Given the description of an element on the screen output the (x, y) to click on. 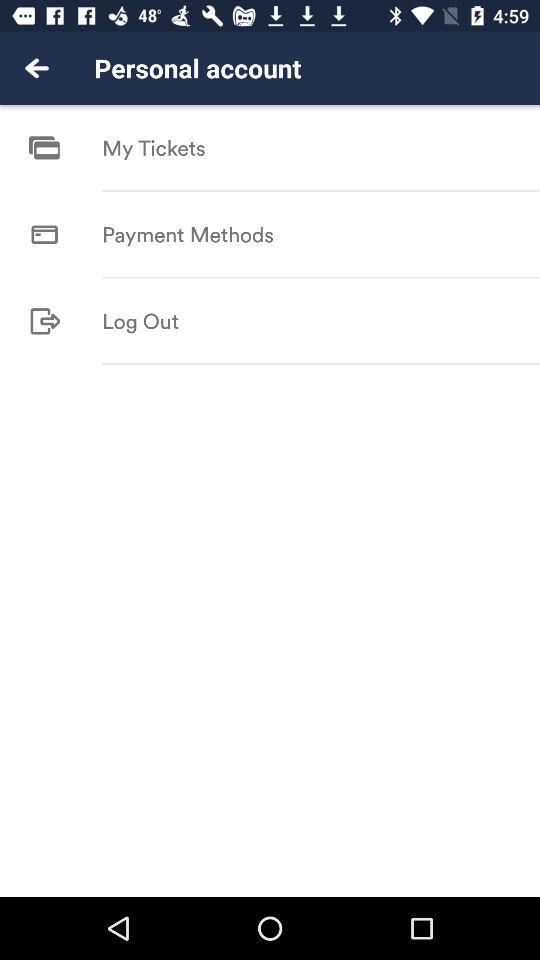
press the icon above the payment methods (321, 190)
